Given the description of an element on the screen output the (x, y) to click on. 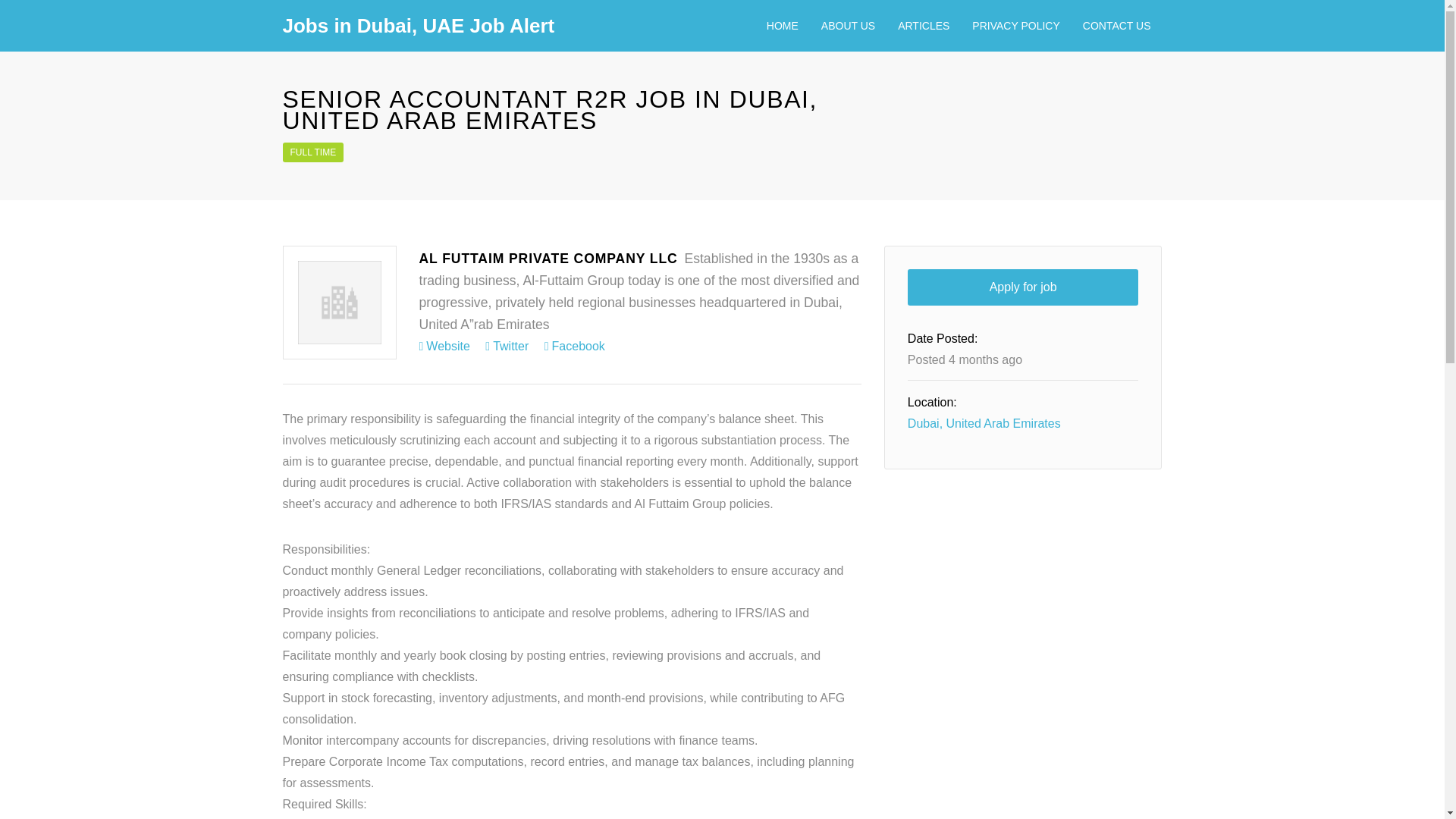
Website (443, 345)
Facebook (574, 345)
AL FUTTAIM PRIVATE COMPANY LLC (548, 258)
HOME (782, 25)
ARTICLES (923, 25)
PRIVACY POLICY (1015, 25)
Dubai, United Arab Emirates (984, 422)
Twitter (506, 345)
Apply for job (1022, 287)
Jobs in Dubai, UAE Job Alert (418, 25)
CONTACT US (1116, 25)
ABOUT US (847, 25)
